Given the description of an element on the screen output the (x, y) to click on. 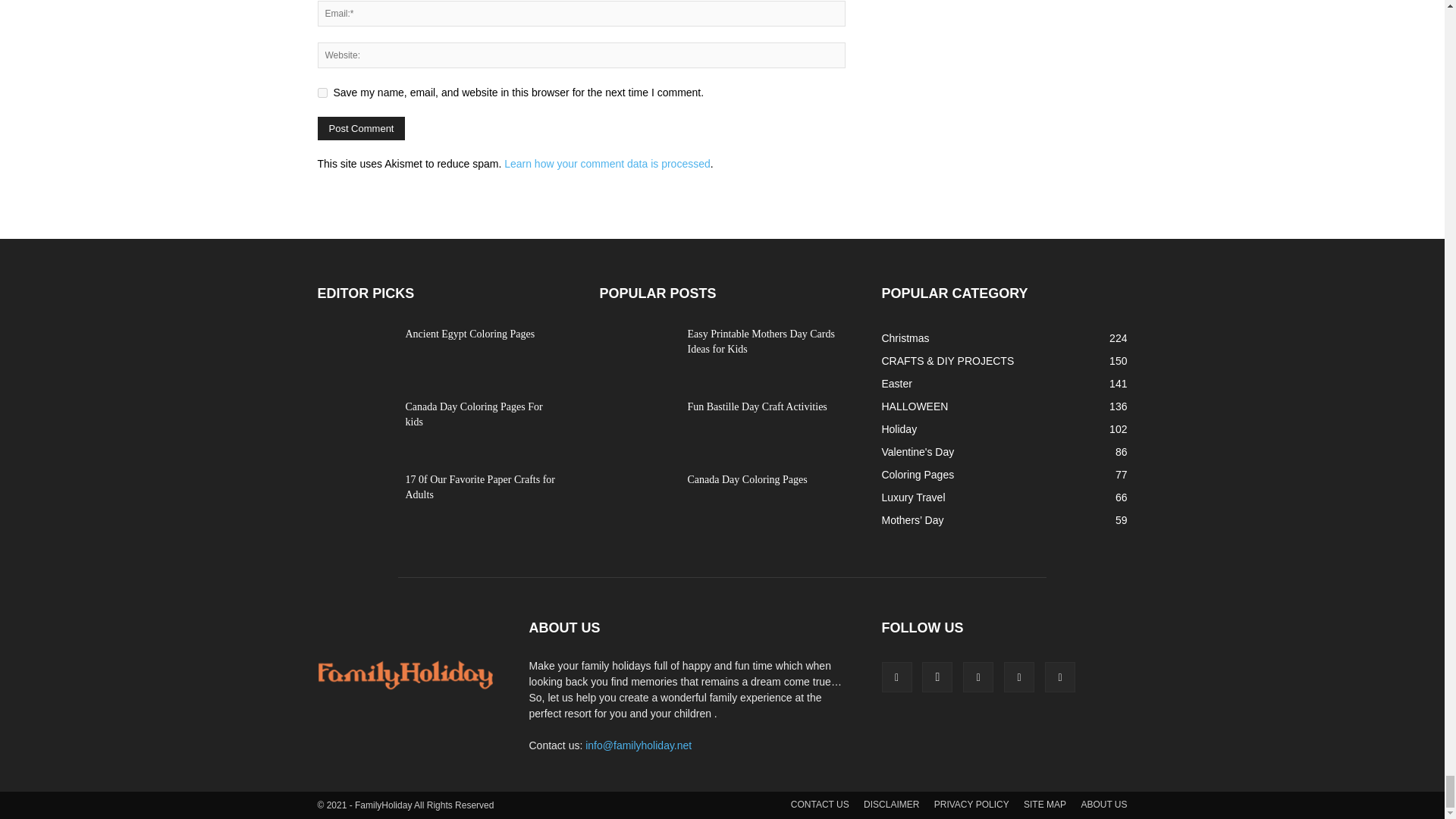
yes (321, 92)
Post Comment (360, 128)
